Given the description of an element on the screen output the (x, y) to click on. 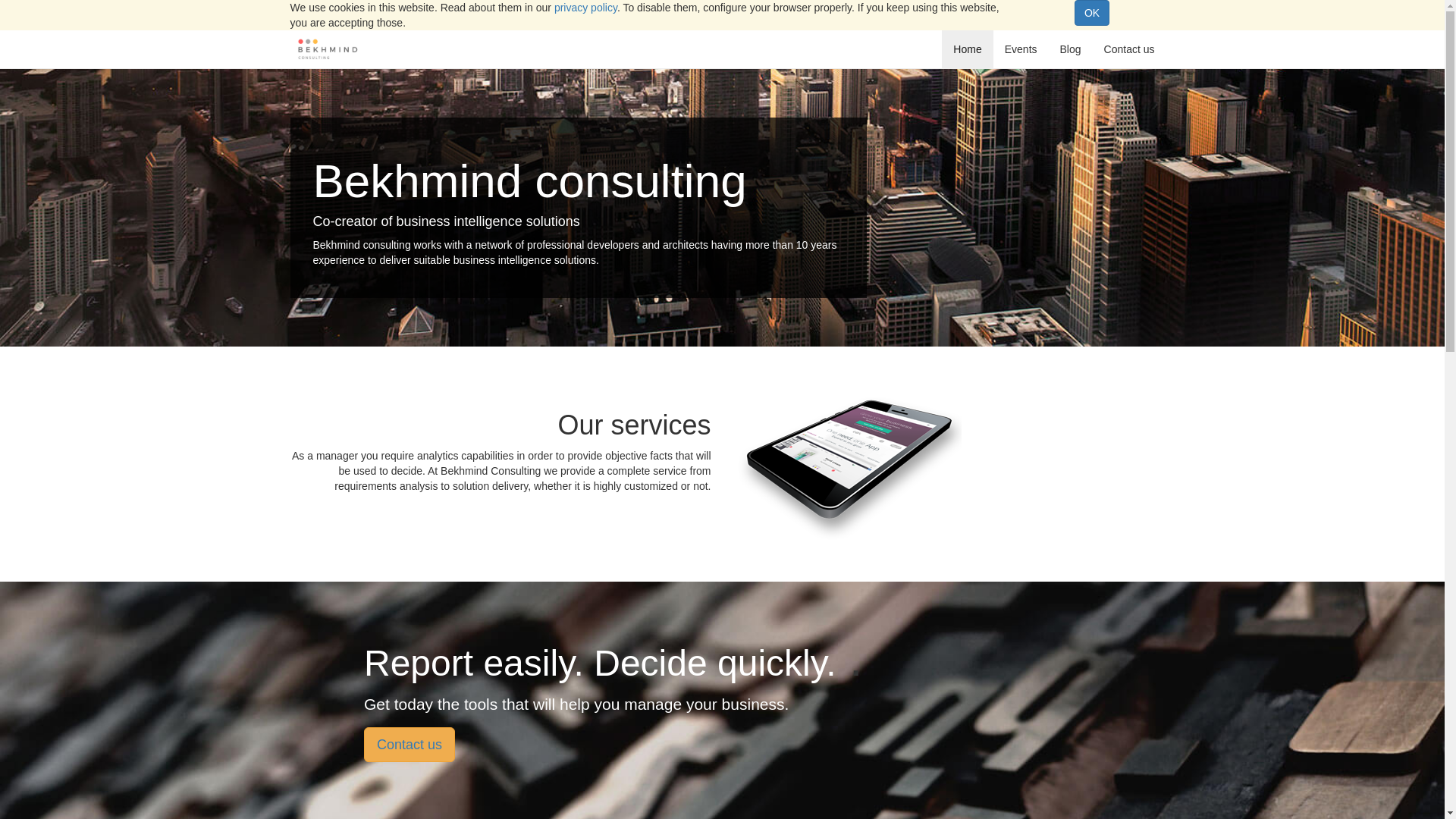
Blog Element type: text (1070, 49)
Contact us Element type: text (1129, 49)
Home Element type: text (966, 49)
Bekhmind Consulting BVBA Element type: hover (327, 49)
Contact us Element type: text (409, 744)
OK Element type: text (1091, 12)
privacy policy Element type: text (585, 7)
Events Element type: text (1020, 49)
